Given the description of an element on the screen output the (x, y) to click on. 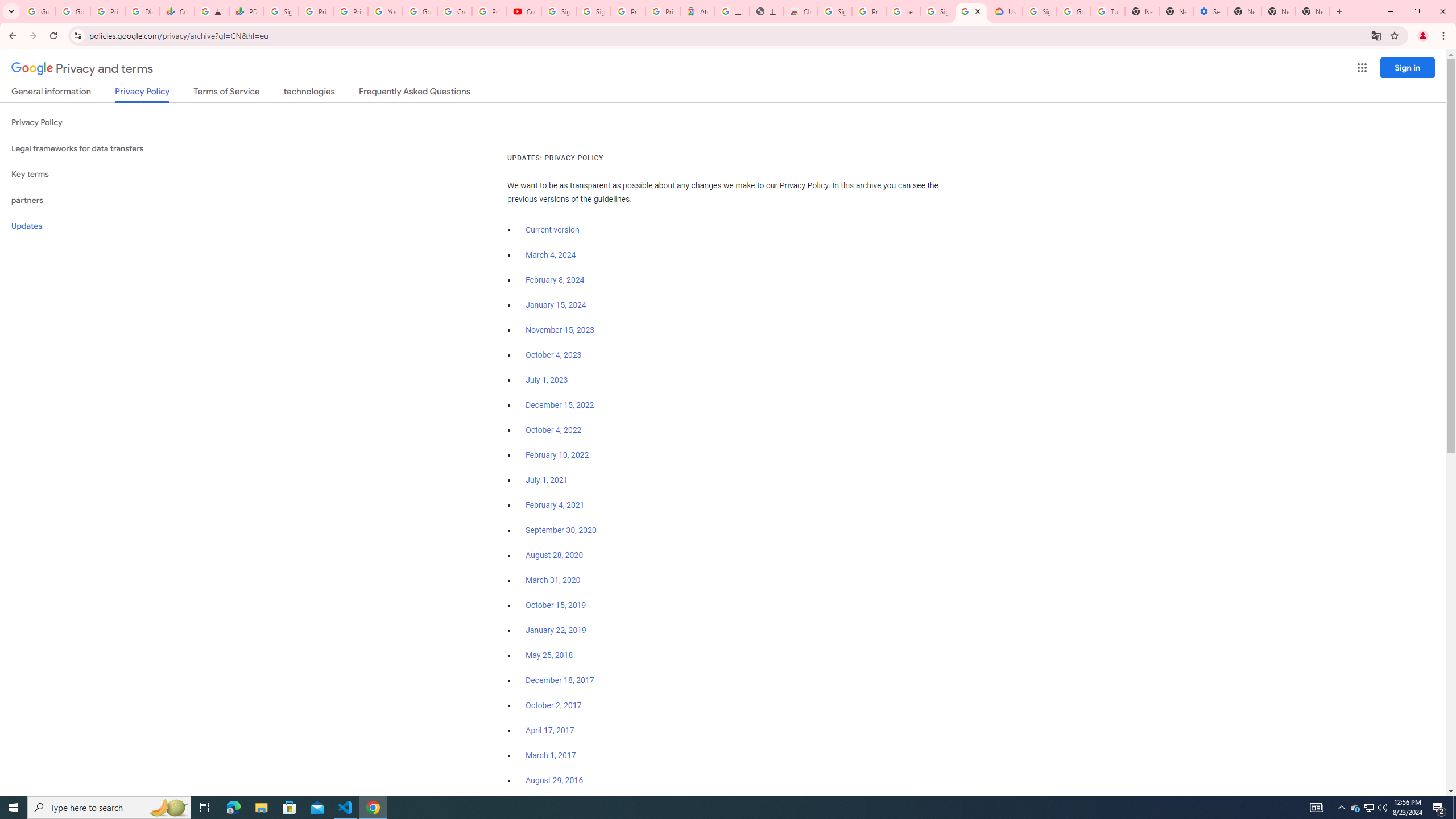
July 1, 2023 (546, 380)
Sign in - Google Accounts (557, 11)
September 30, 2020 (560, 530)
Key terms (86, 174)
Privacy Checkup (349, 11)
partners (86, 199)
